Given the description of an element on the screen output the (x, y) to click on. 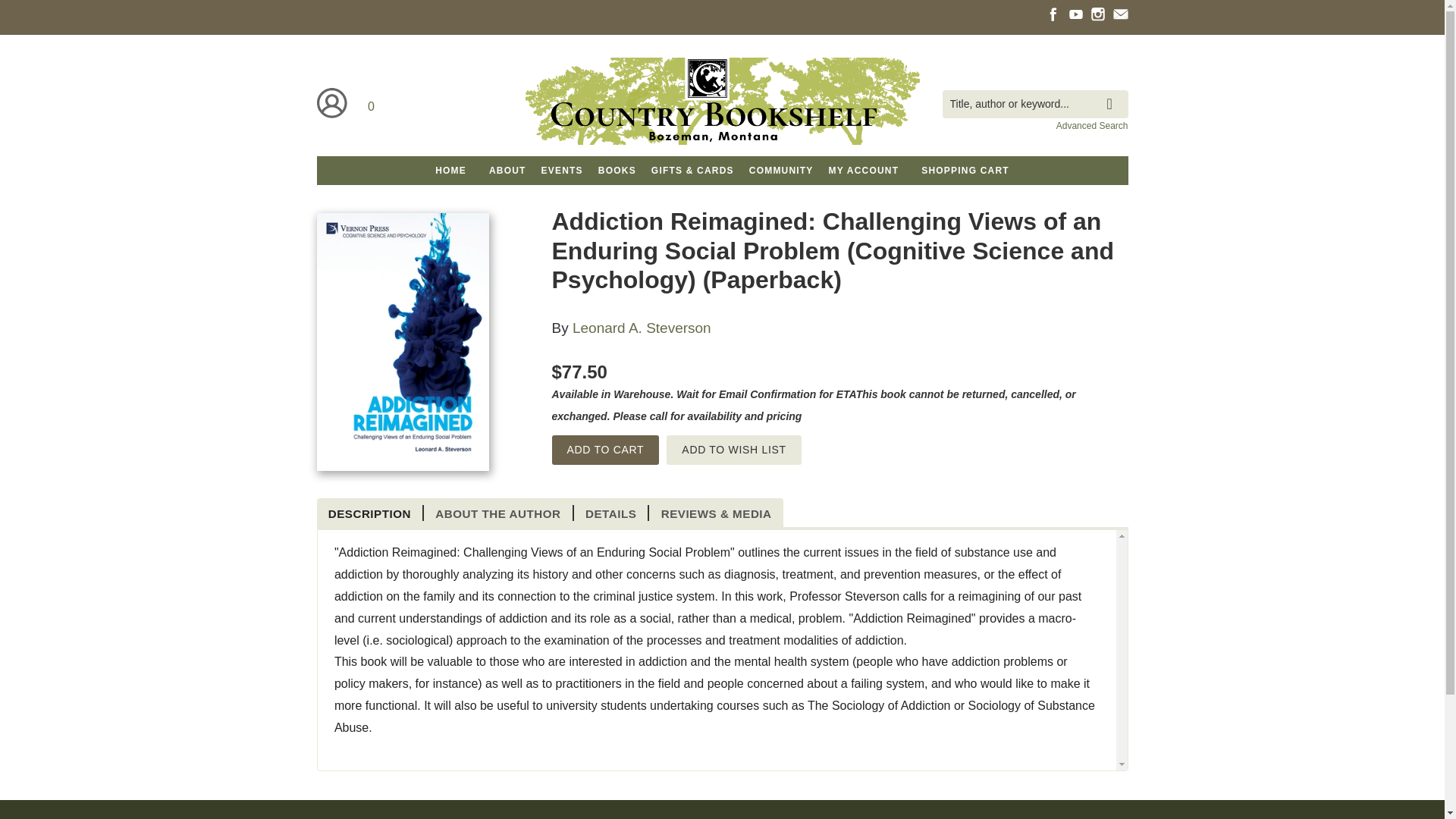
Advanced Search (1092, 125)
Title, author or keyword... (1034, 103)
EVENTS (562, 170)
BOOKS (617, 170)
search (1112, 92)
Cart (371, 102)
Home (721, 103)
ABOUT (507, 170)
COMMUNITY (781, 170)
My Account (332, 102)
HOME (450, 170)
Add to Cart (605, 449)
search (1112, 92)
